Given the description of an element on the screen output the (x, y) to click on. 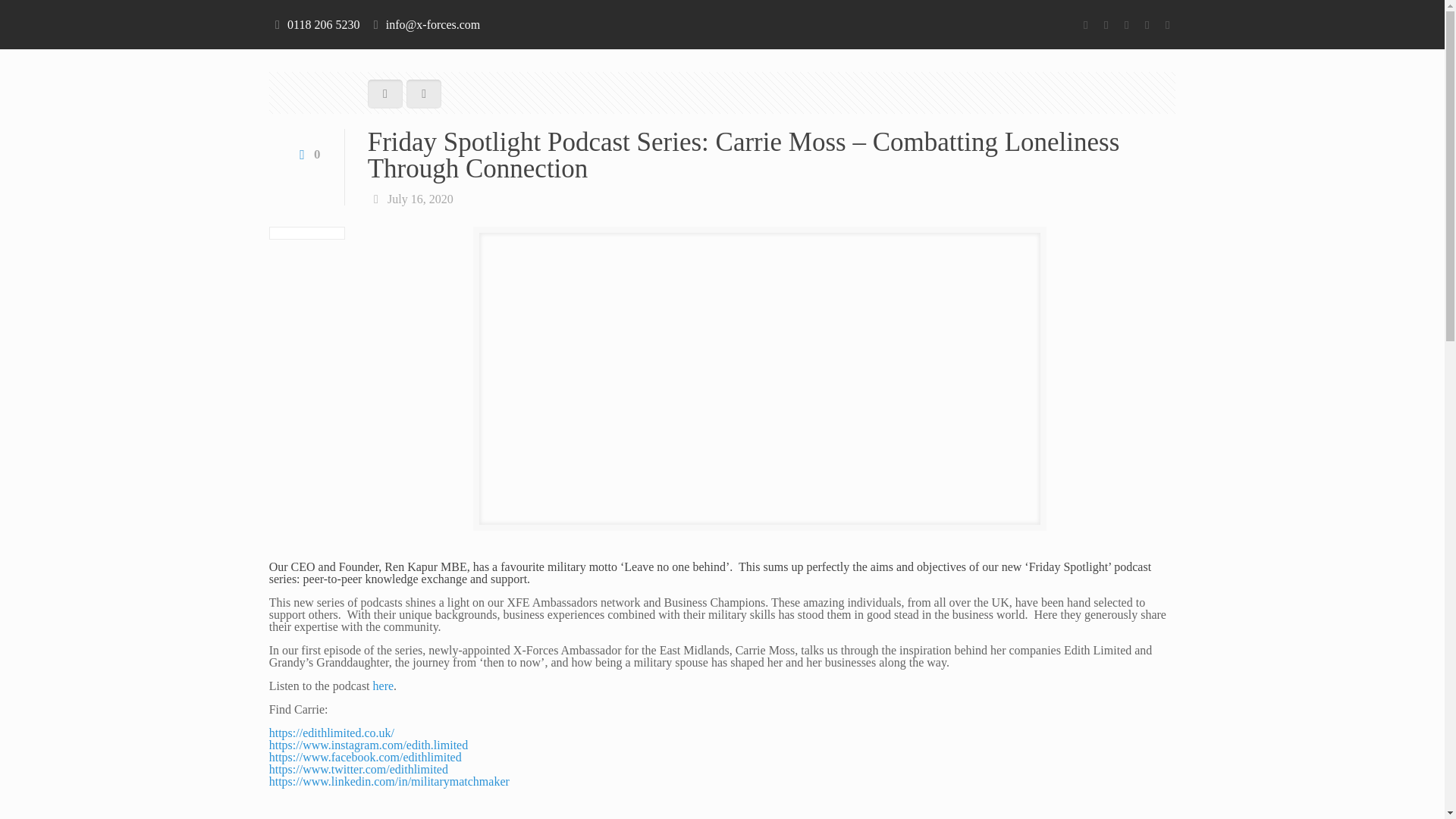
LinkedIn (1146, 24)
YouTube (1126, 24)
Facebook (1085, 24)
0118 206 5230 (322, 24)
Instagram (1166, 24)
Twitter (1105, 24)
